Given the description of an element on the screen output the (x, y) to click on. 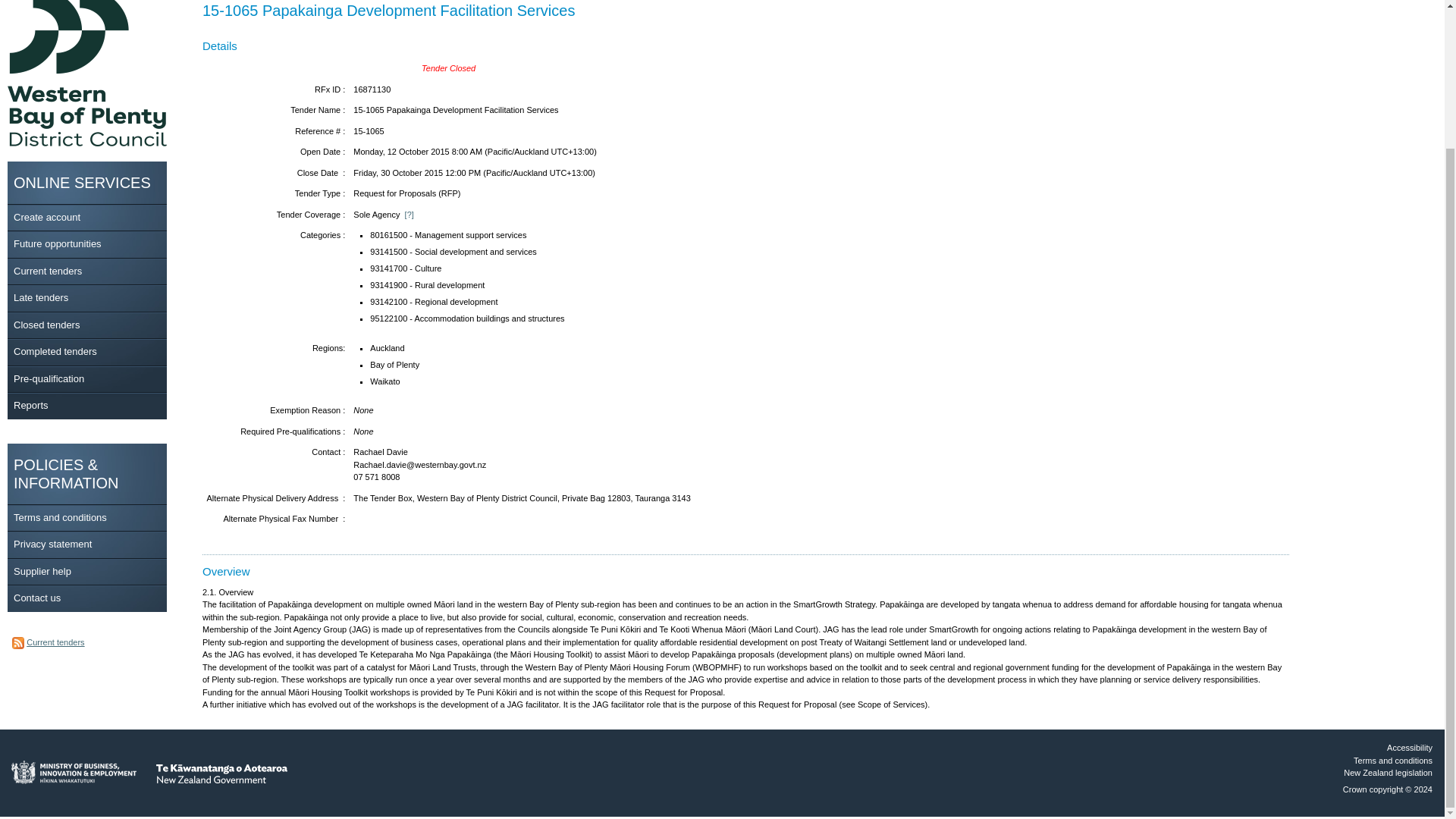
Pre-qualification (48, 378)
Accessibility (1409, 747)
Current tenders (55, 642)
List of recently completed tenders (55, 351)
Terms and Conditions (1393, 759)
Terms and conditions (59, 517)
List of open tenders (47, 270)
Current tenders (47, 270)
Pre-qualification (48, 378)
Online help (42, 570)
Completed tenders (55, 351)
List of recently closed tenders (46, 324)
Terms and Conditions (59, 517)
Privacy statement (52, 543)
Western Bay of Plenty District Council Logo (87, 73)
